Given the description of an element on the screen output the (x, y) to click on. 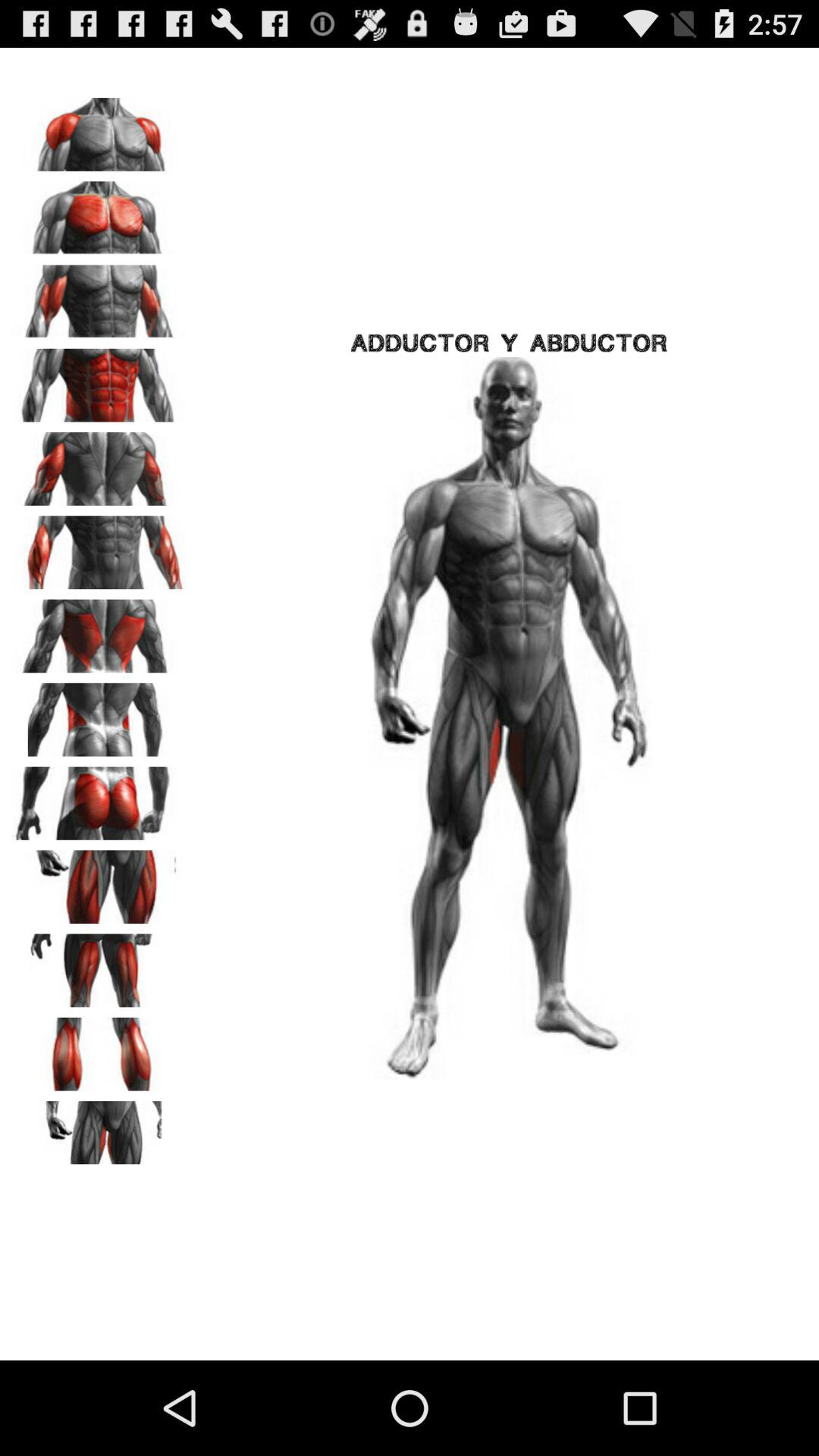
enlarge image (99, 296)
